Given the description of an element on the screen output the (x, y) to click on. 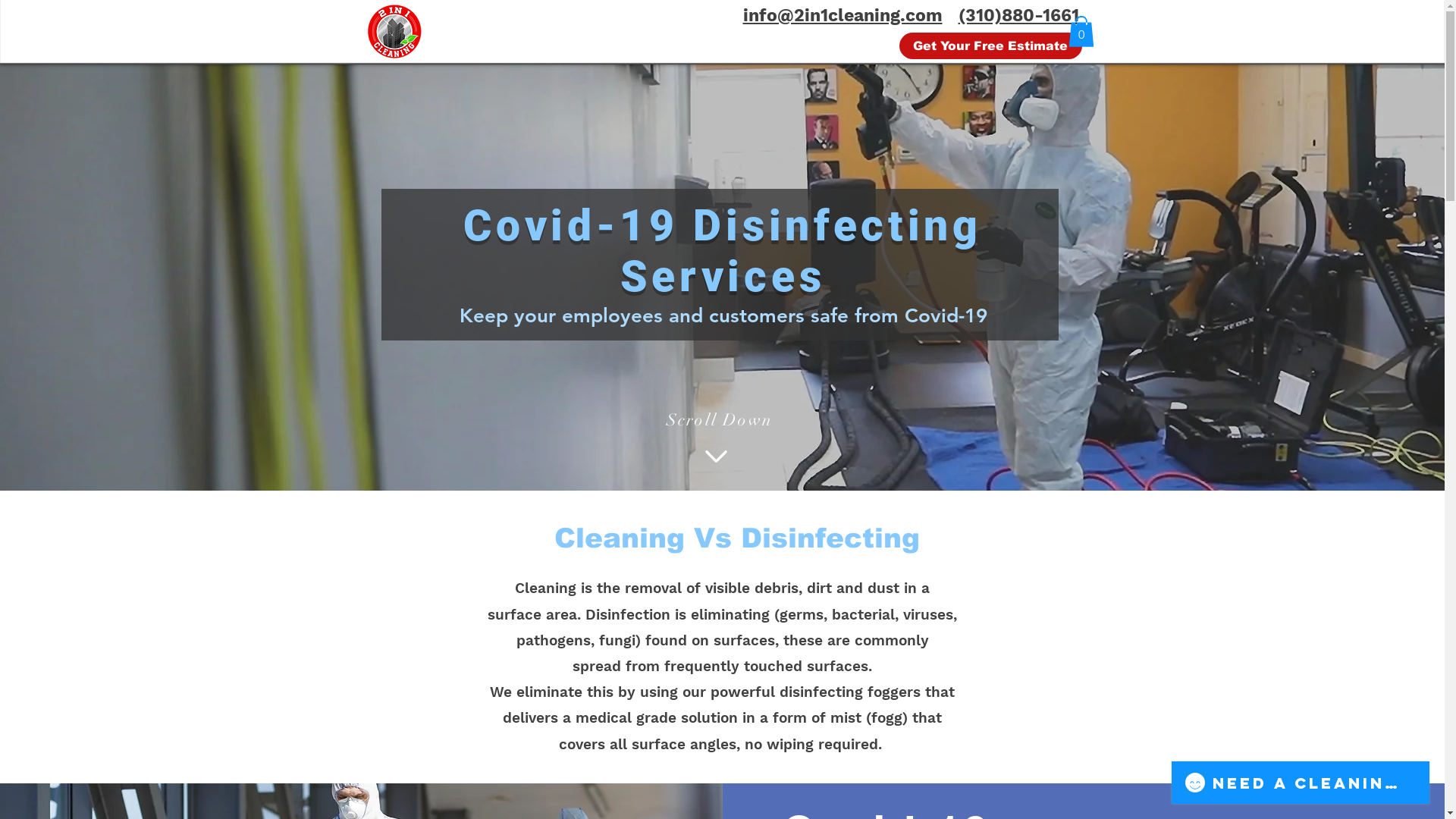
Get Your Free Estimate Element type: text (990, 45)
info@2in1cleaning.com Element type: text (842, 15)
0 Element type: text (1080, 31)
(310)880-1661 Element type: text (1018, 15)
